Given the description of an element on the screen output the (x, y) to click on. 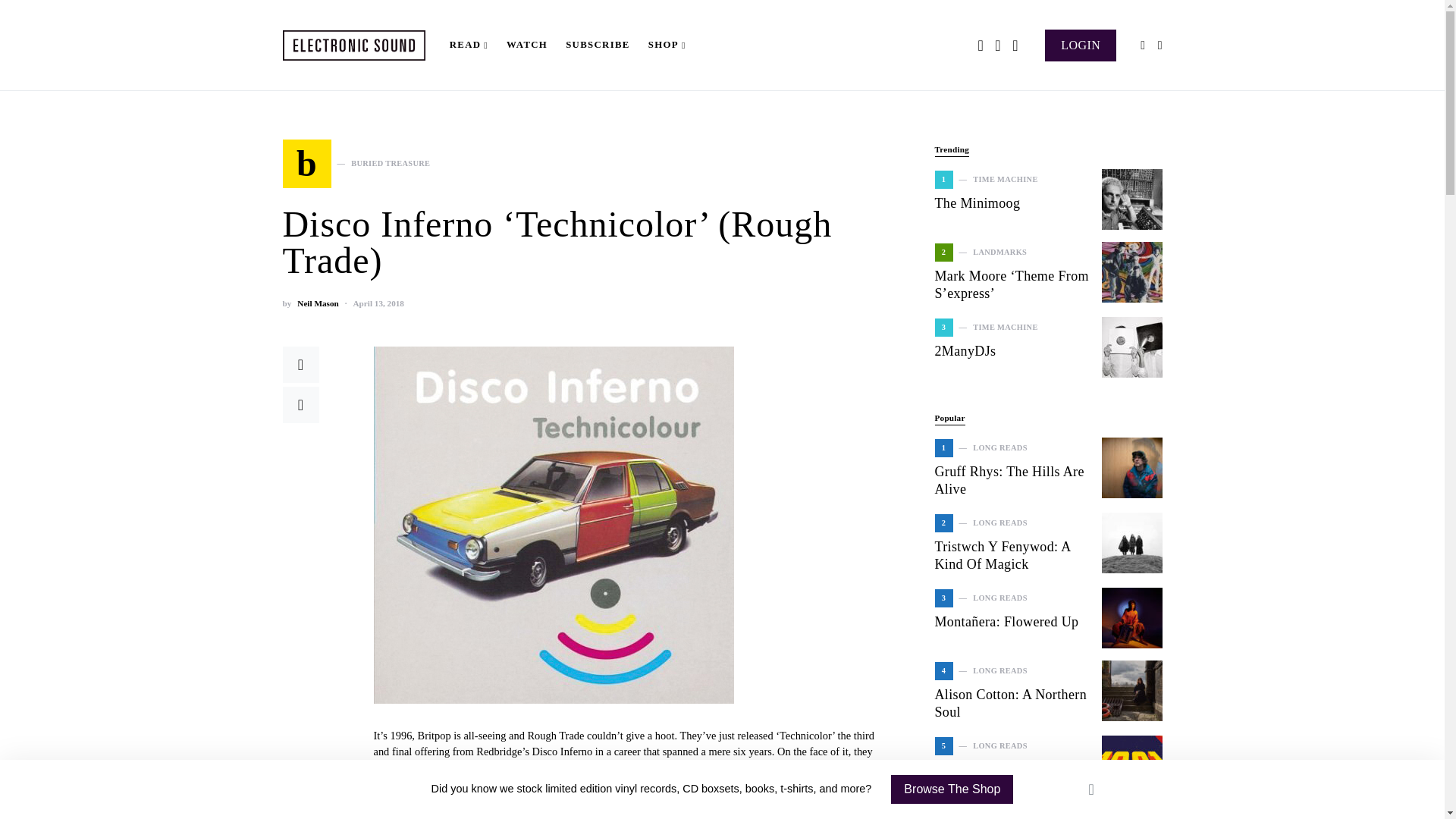
Neil Mason (317, 303)
View all posts by Neil Mason (355, 163)
LOGIN (317, 303)
SUBSCRIBE (1080, 44)
